Given the description of an element on the screen output the (x, y) to click on. 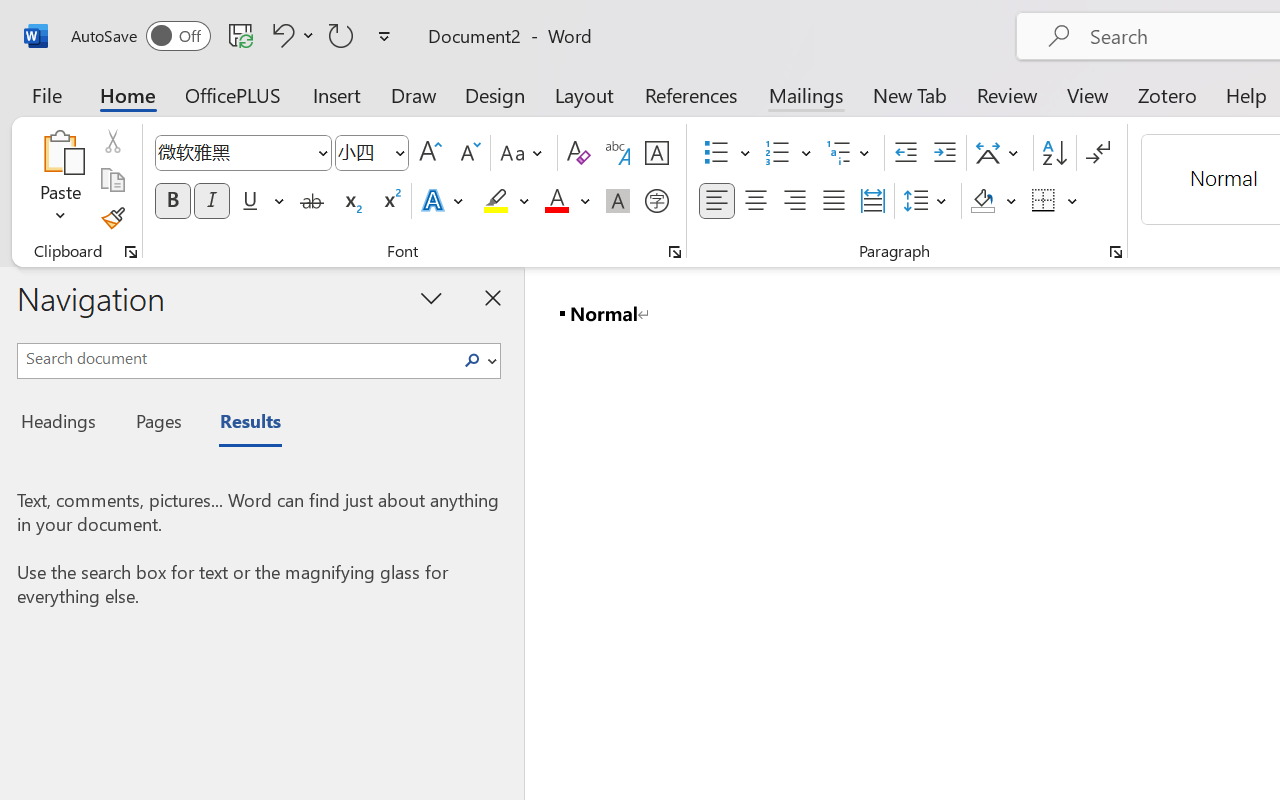
Undo Style (290, 35)
Enclose Characters... (656, 201)
Cut (112, 141)
Text Highlight Color (506, 201)
Distributed (872, 201)
Search (471, 360)
Font (242, 153)
Mailings (806, 94)
Headings (64, 424)
Font Color (567, 201)
Shading (993, 201)
Class: NetUIImage (471, 360)
